Given the description of an element on the screen output the (x, y) to click on. 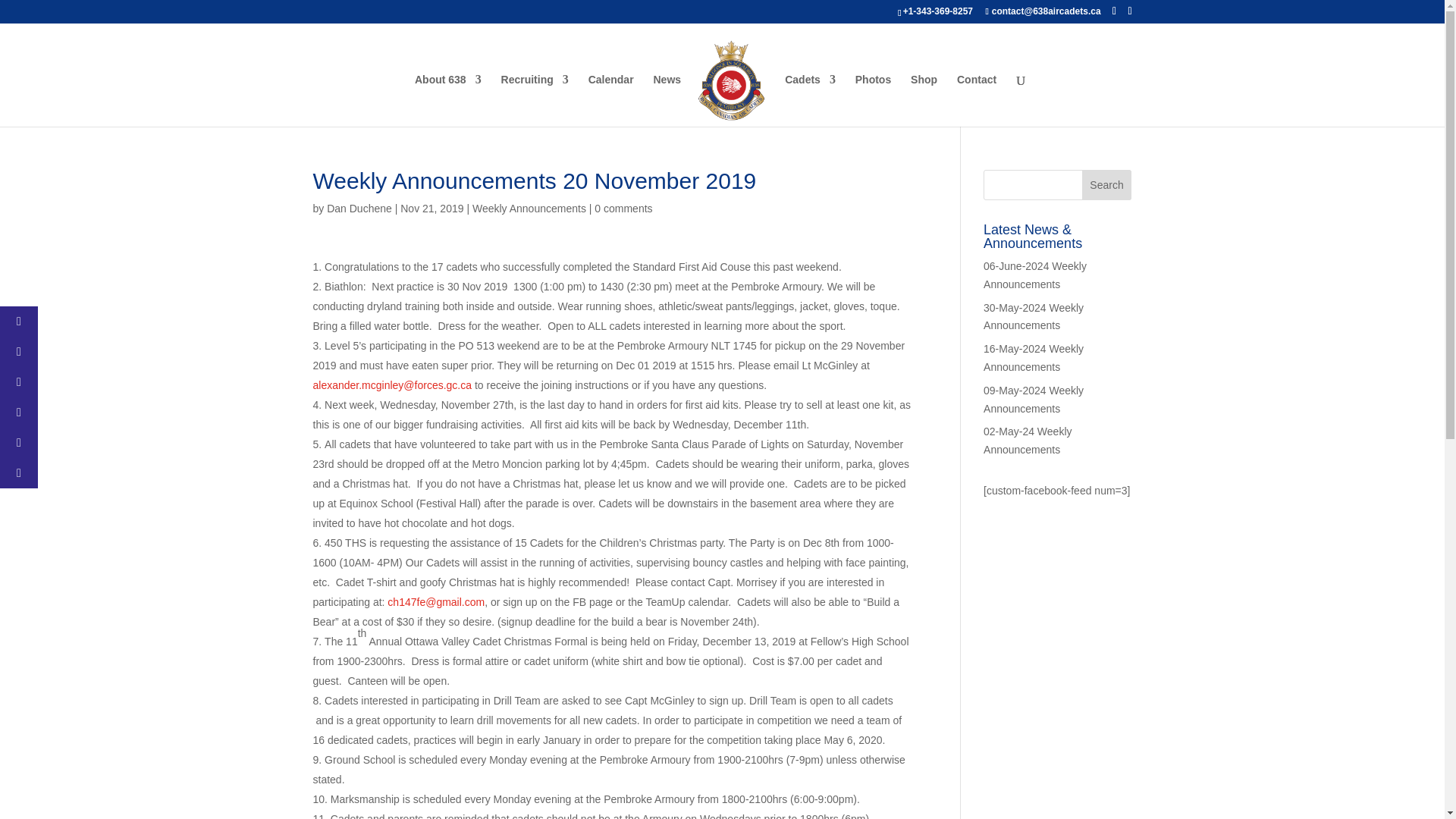
Posts by Dan Duchene (358, 208)
About 638 (447, 100)
Cadets (809, 100)
Search (1106, 184)
Recruiting (534, 100)
